Given the description of an element on the screen output the (x, y) to click on. 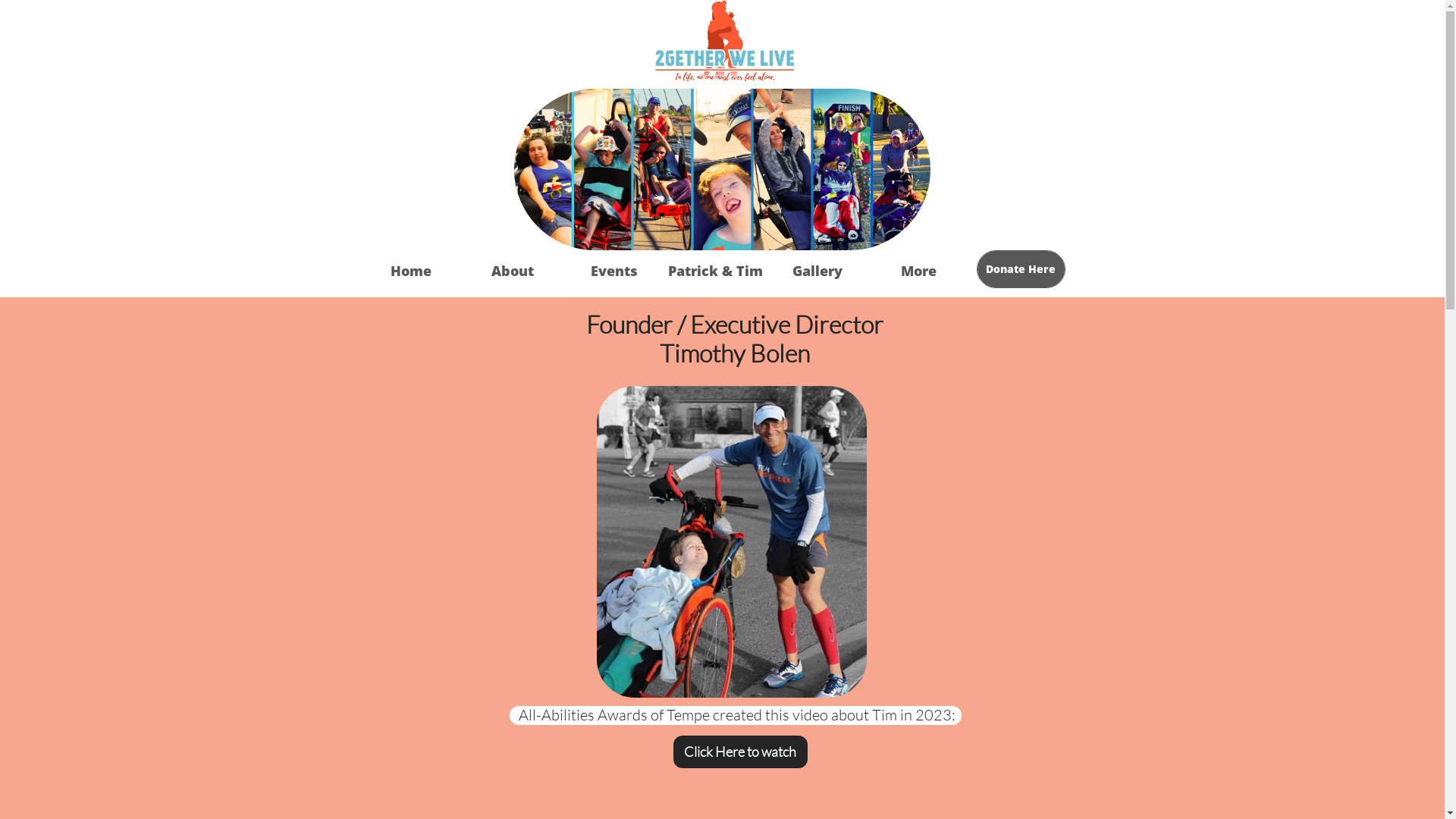
Patrick & Tim Element type: text (714, 270)
Gallery Element type: text (816, 270)
Donate Here Element type: text (1020, 269)
About Element type: text (511, 270)
Events Element type: text (613, 270)
Click Here to watch Element type: text (740, 751)
Home Element type: text (410, 270)
